Given the description of an element on the screen output the (x, y) to click on. 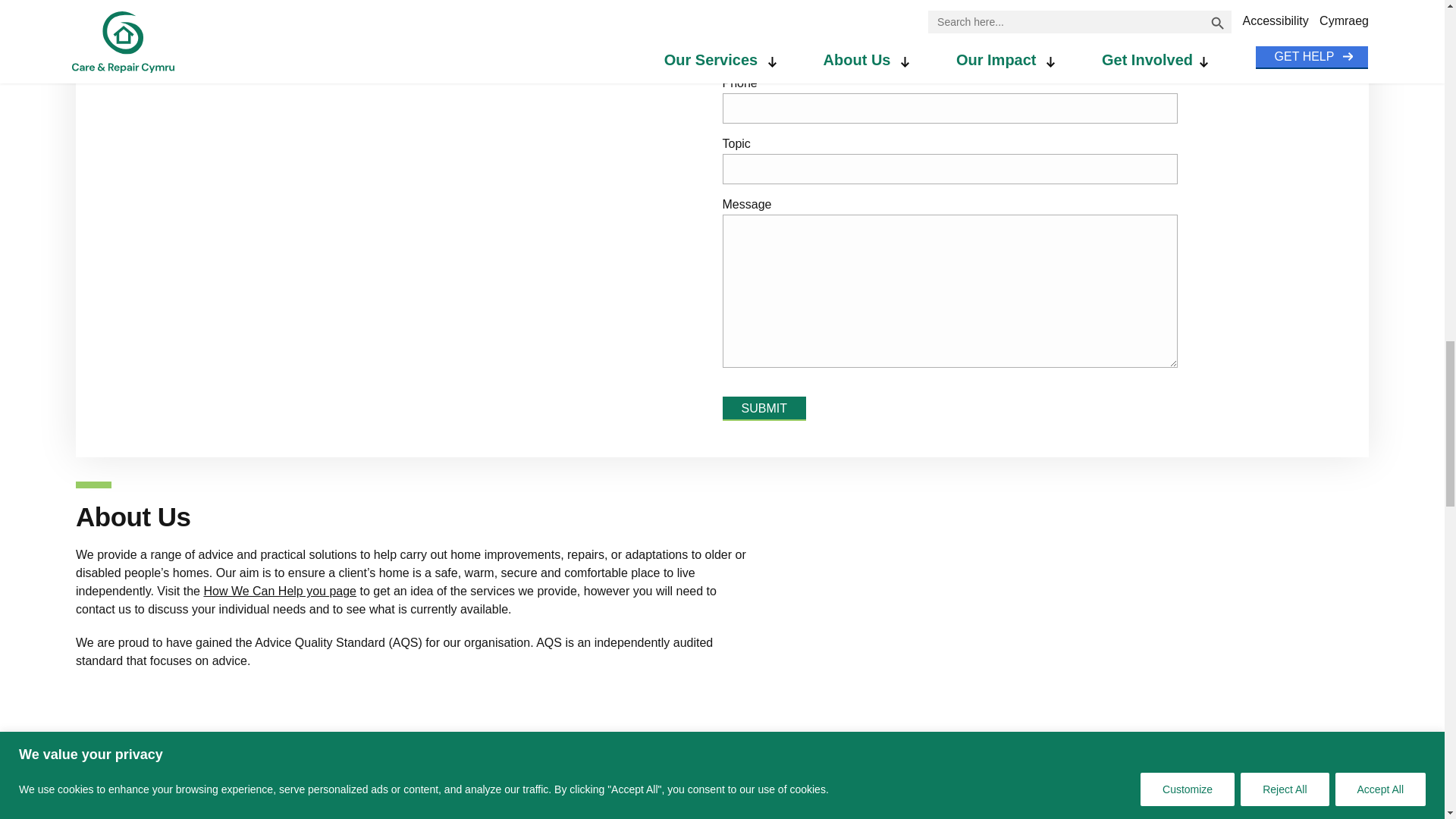
Submit (763, 408)
